Given the description of an element on the screen output the (x, y) to click on. 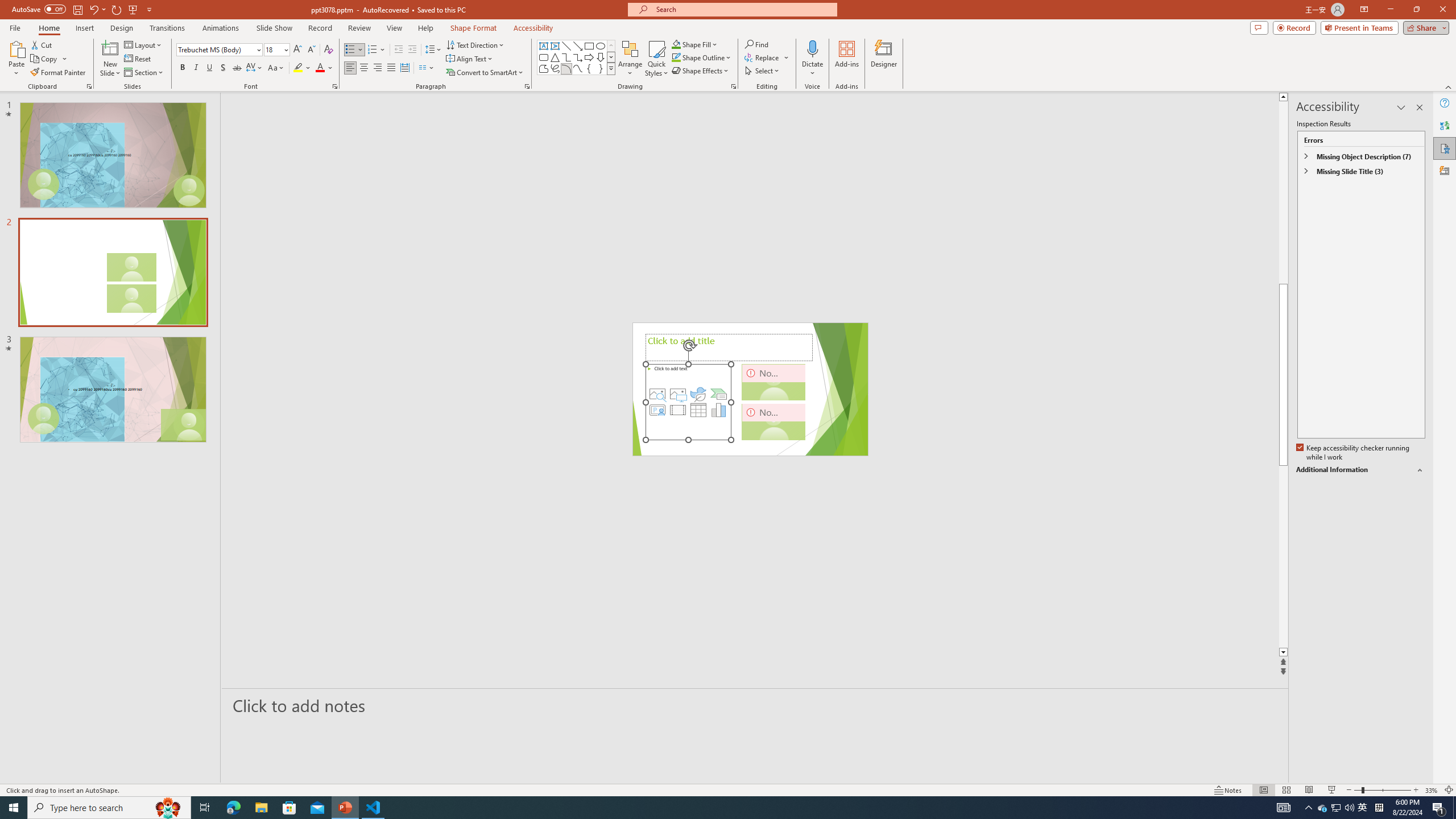
Insert Table (697, 409)
